Given the description of an element on the screen output the (x, y) to click on. 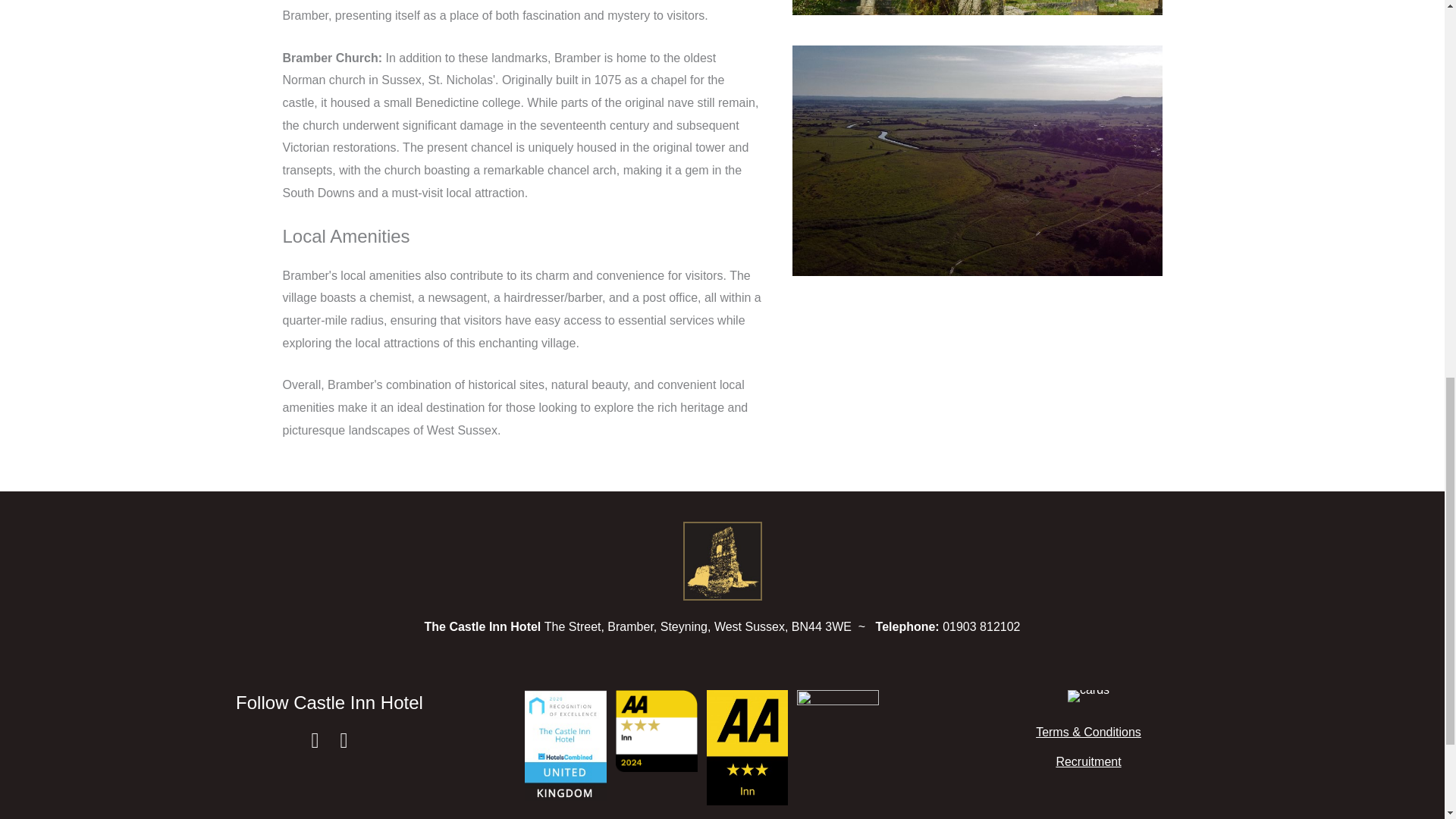
AA-GAC-INN-3STAR-GOLD (656, 731)
01903 812102 (981, 626)
Kayak Awards (837, 731)
Recruitment (1087, 761)
logo-cropped (722, 560)
St Nicholas Church (976, 7)
cards (1088, 695)
